Given the description of an element on the screen output the (x, y) to click on. 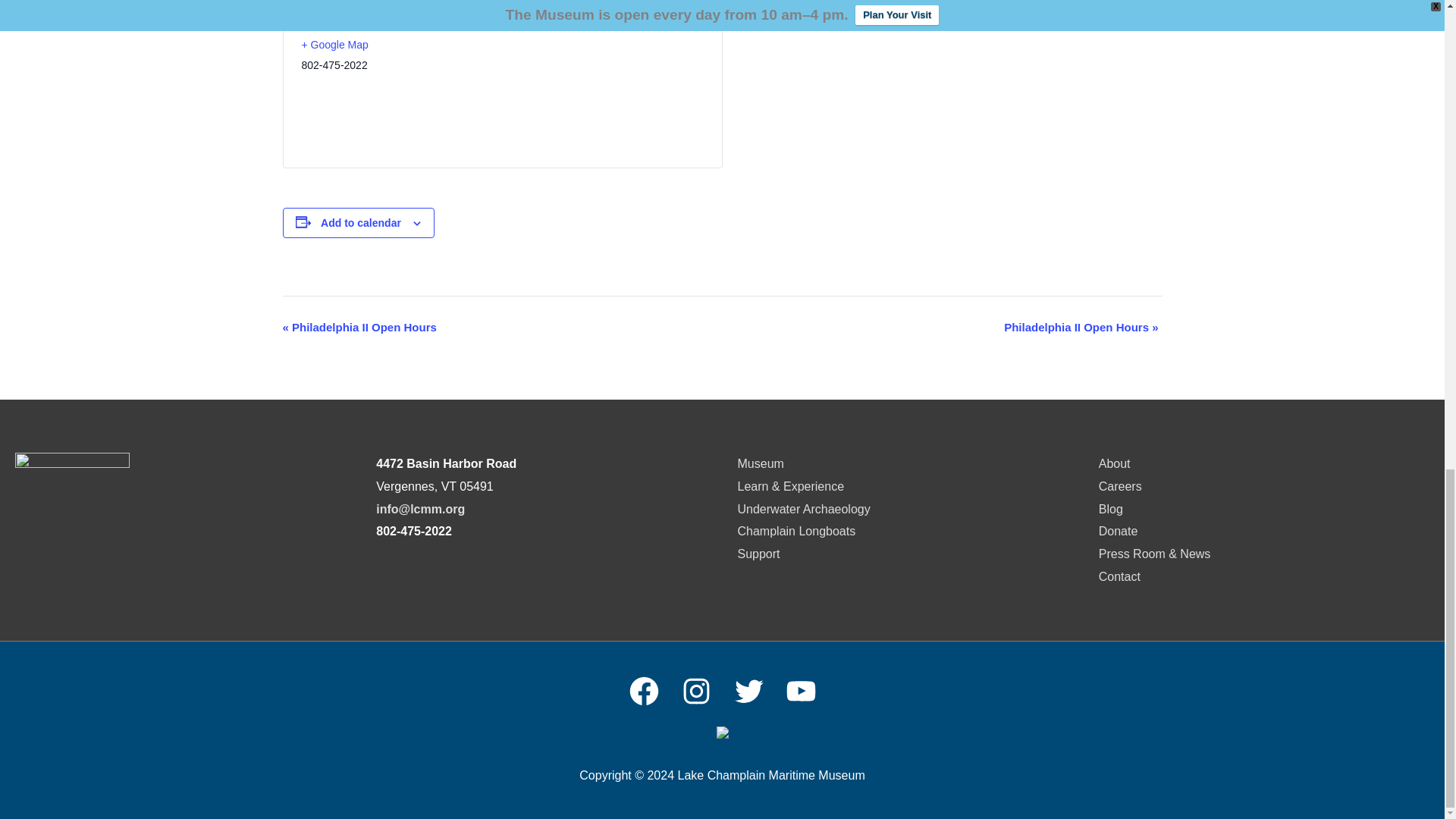
Vermont (364, 3)
Click to view a Google Map (395, 45)
